Given the description of an element on the screen output the (x, y) to click on. 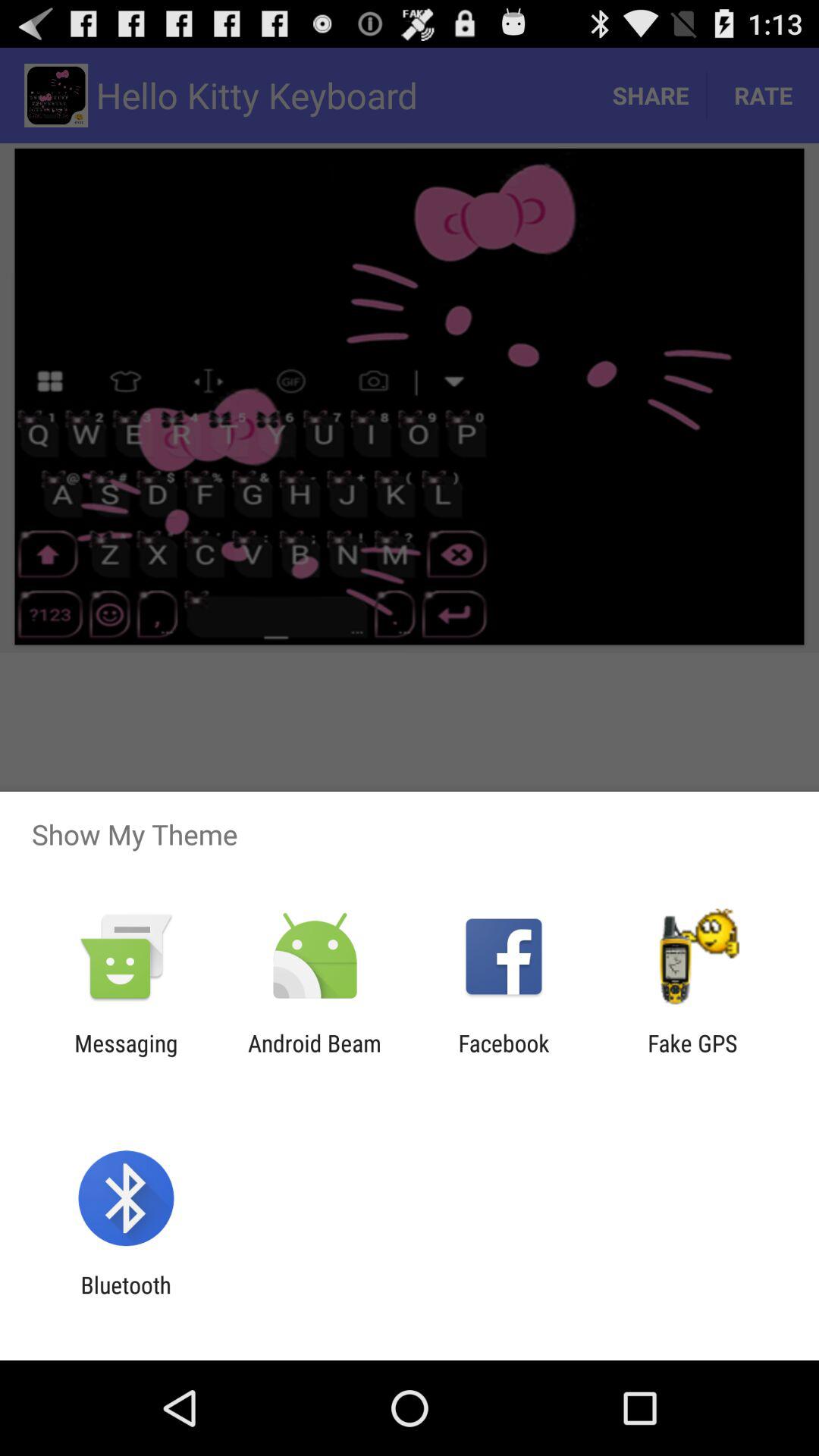
launch facebook item (503, 1056)
